Given the description of an element on the screen output the (x, y) to click on. 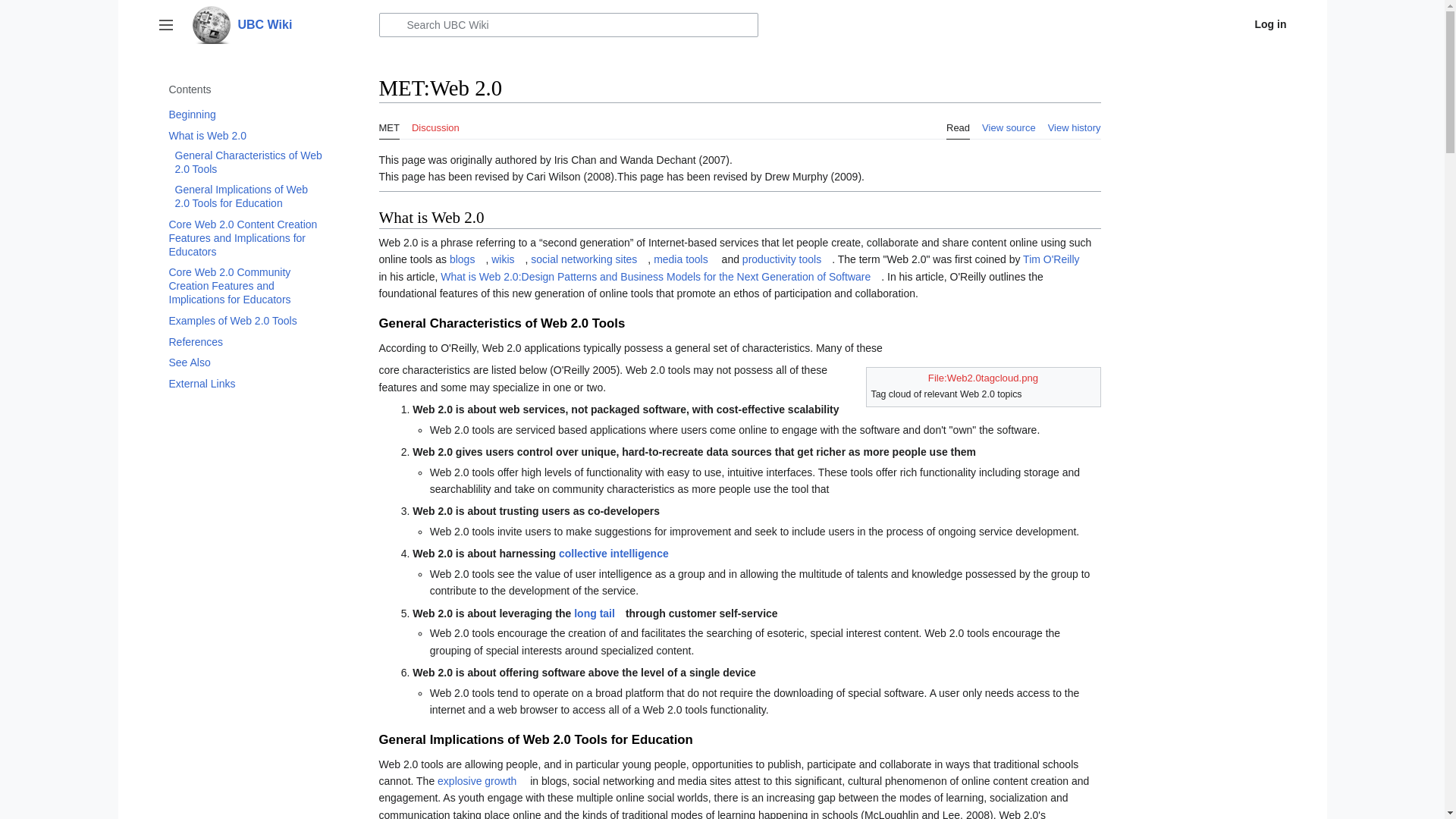
Beginning (245, 114)
Search (392, 24)
Main menu (165, 24)
Go (392, 24)
References (245, 342)
See Also (245, 362)
Log in (1260, 24)
Search (392, 24)
Toggle What is Web 2.0 subsection (159, 134)
General Implications of Web 2.0 Tools for Education (248, 195)
Search the pages for this text (392, 24)
What is Web 2.0 (245, 135)
UBC Wiki (276, 24)
